Given the description of an element on the screen output the (x, y) to click on. 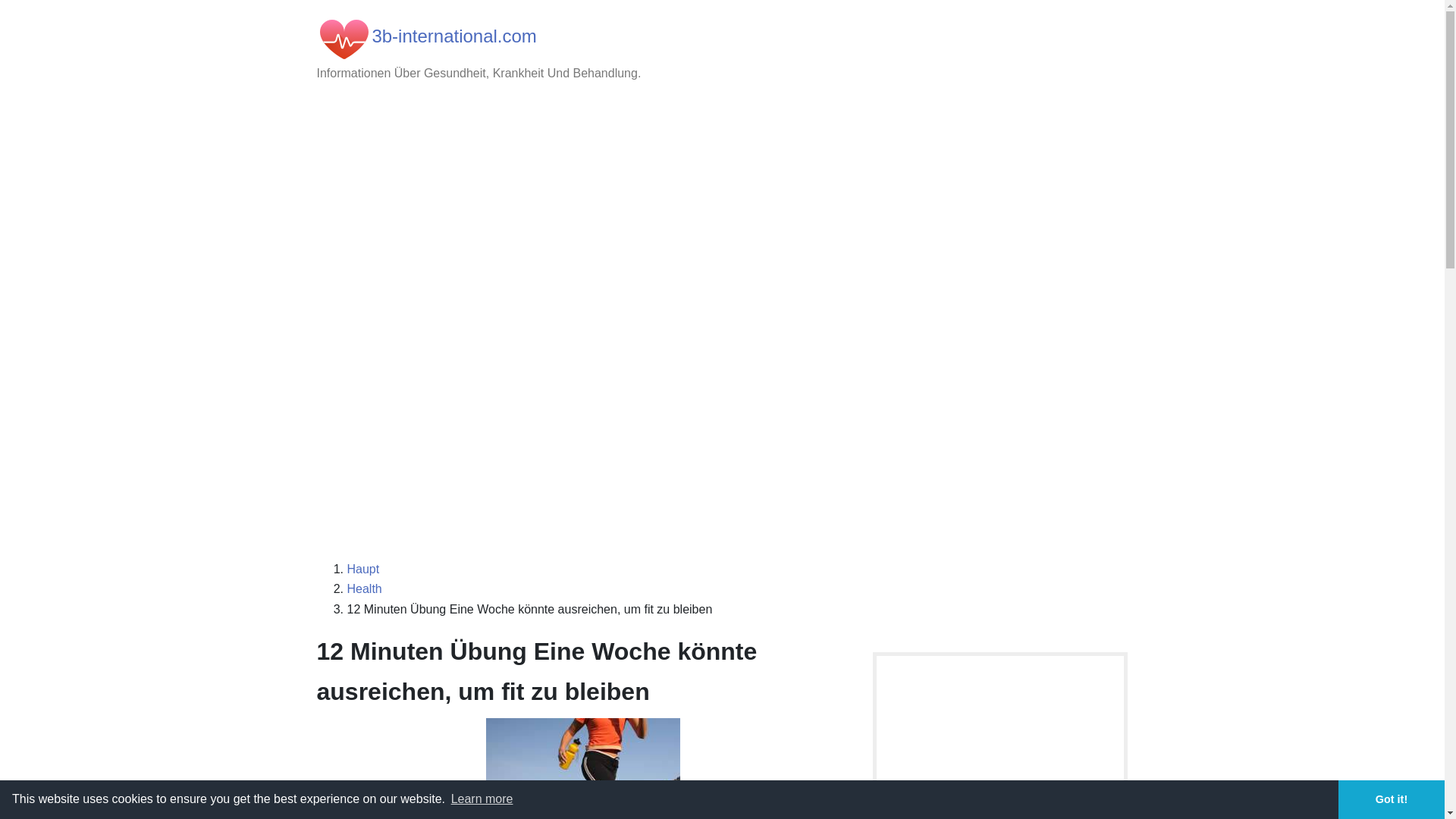
Advertisement Element type: hover (722, 438)
Haupt Element type: text (363, 568)
Advertisement Element type: hover (722, 217)
3b-international.com Element type: text (453, 35)
Learn more Element type: text (481, 798)
Health Element type: text (364, 588)
